Given the description of an element on the screen output the (x, y) to click on. 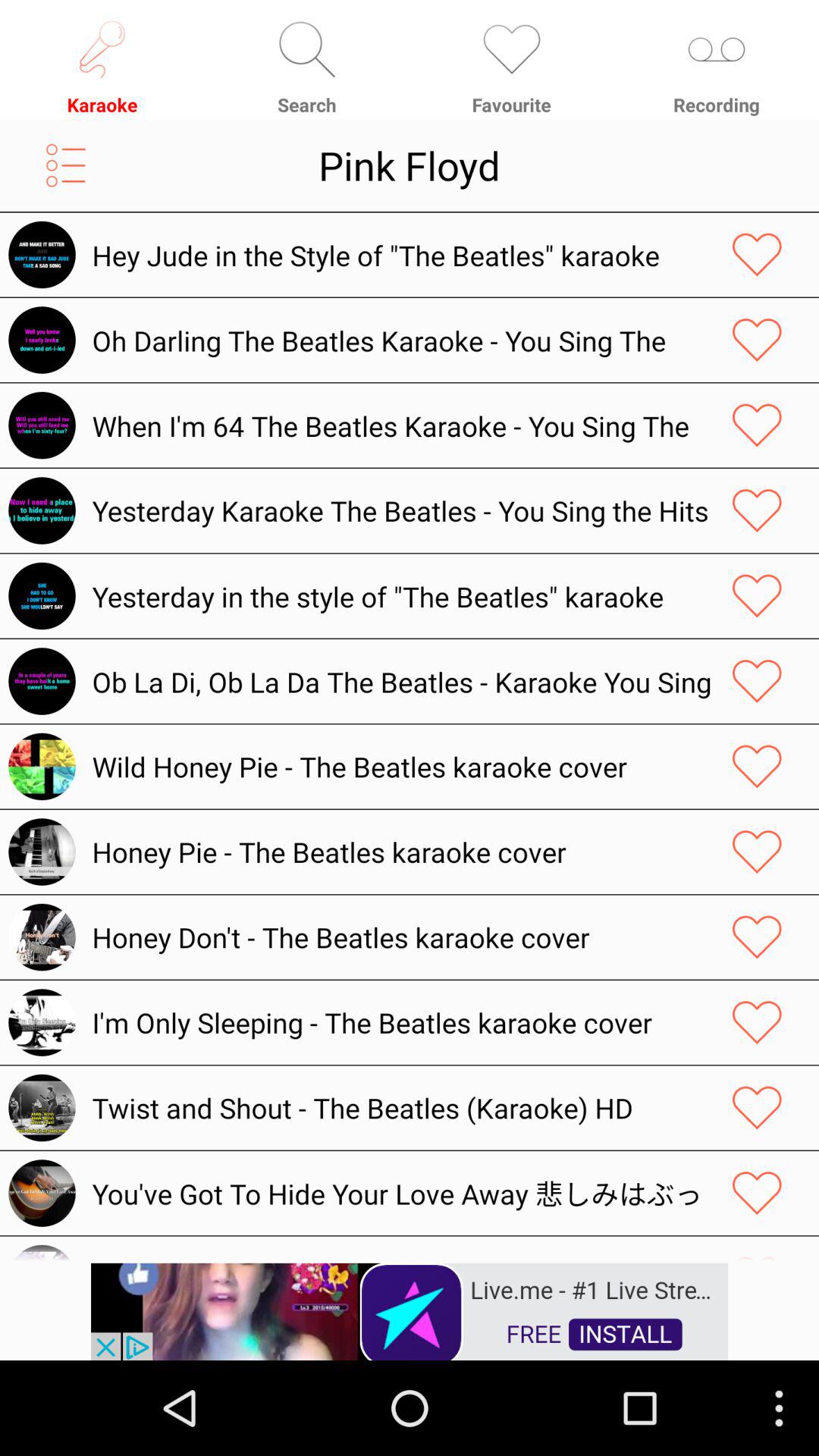
favorite this item (756, 851)
